Given the description of an element on the screen output the (x, y) to click on. 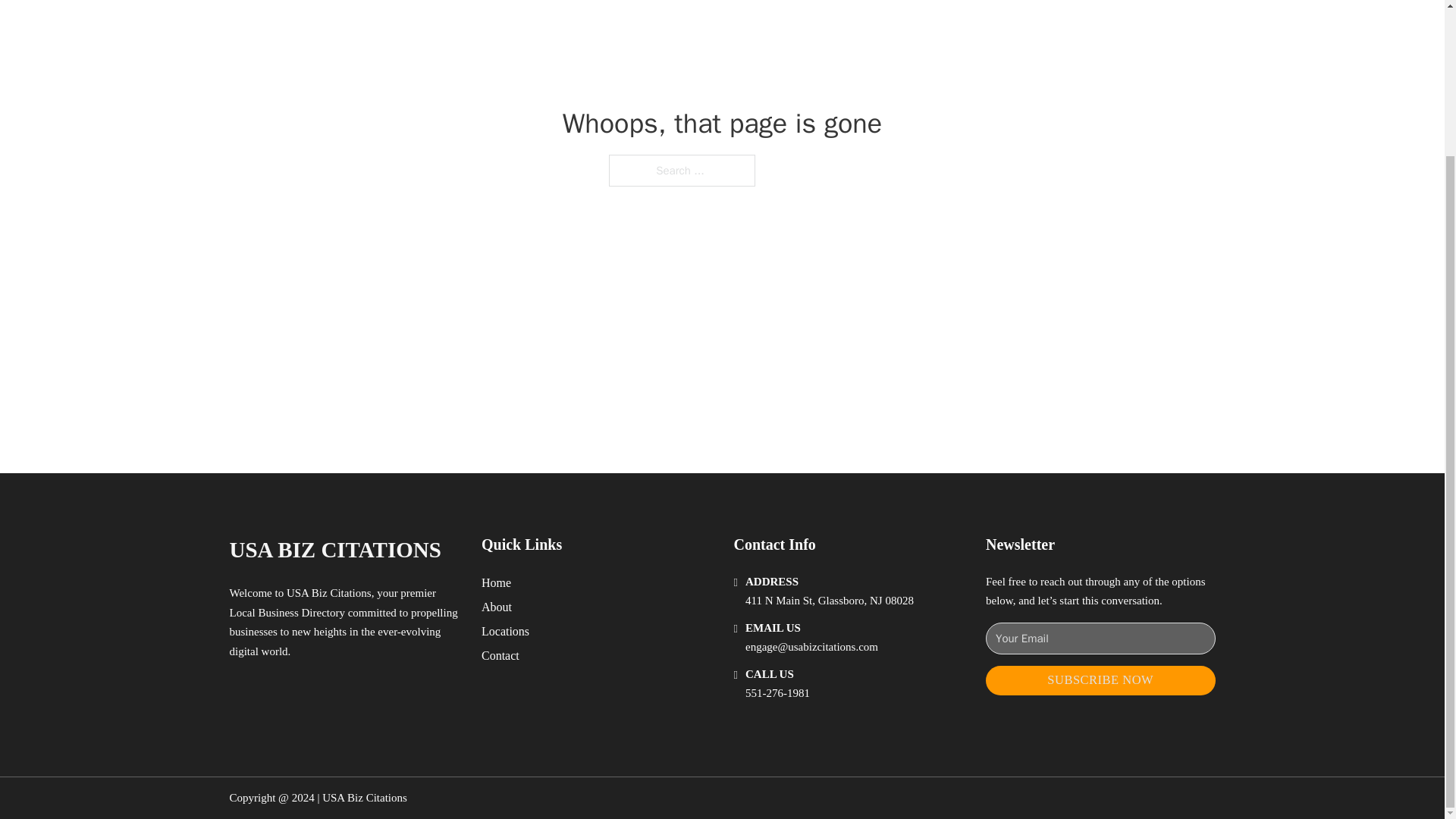
Home (496, 582)
USA BIZ CITATIONS (334, 549)
Contact (500, 655)
SUBSCRIBE NOW (1100, 680)
551-276-1981 (777, 693)
Locations (505, 630)
About (496, 607)
